Given the description of an element on the screen output the (x, y) to click on. 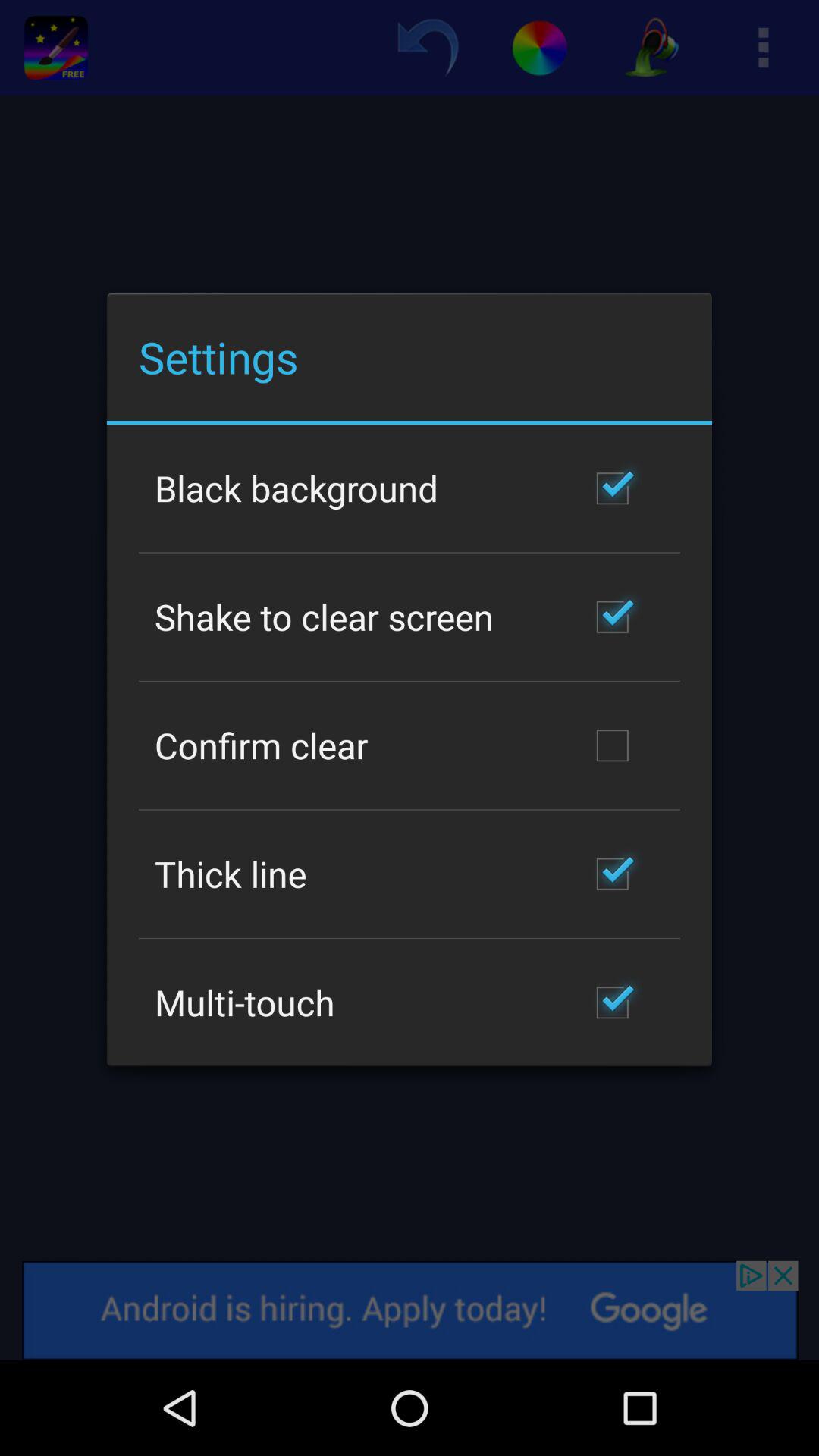
choose the confirm clear item (260, 745)
